Given the description of an element on the screen output the (x, y) to click on. 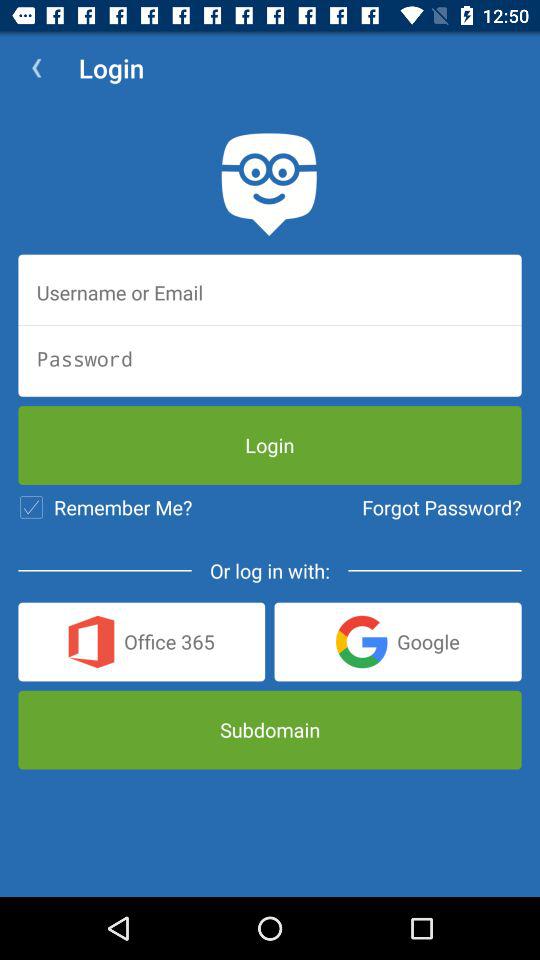
password entry (269, 358)
